Given the description of an element on the screen output the (x, y) to click on. 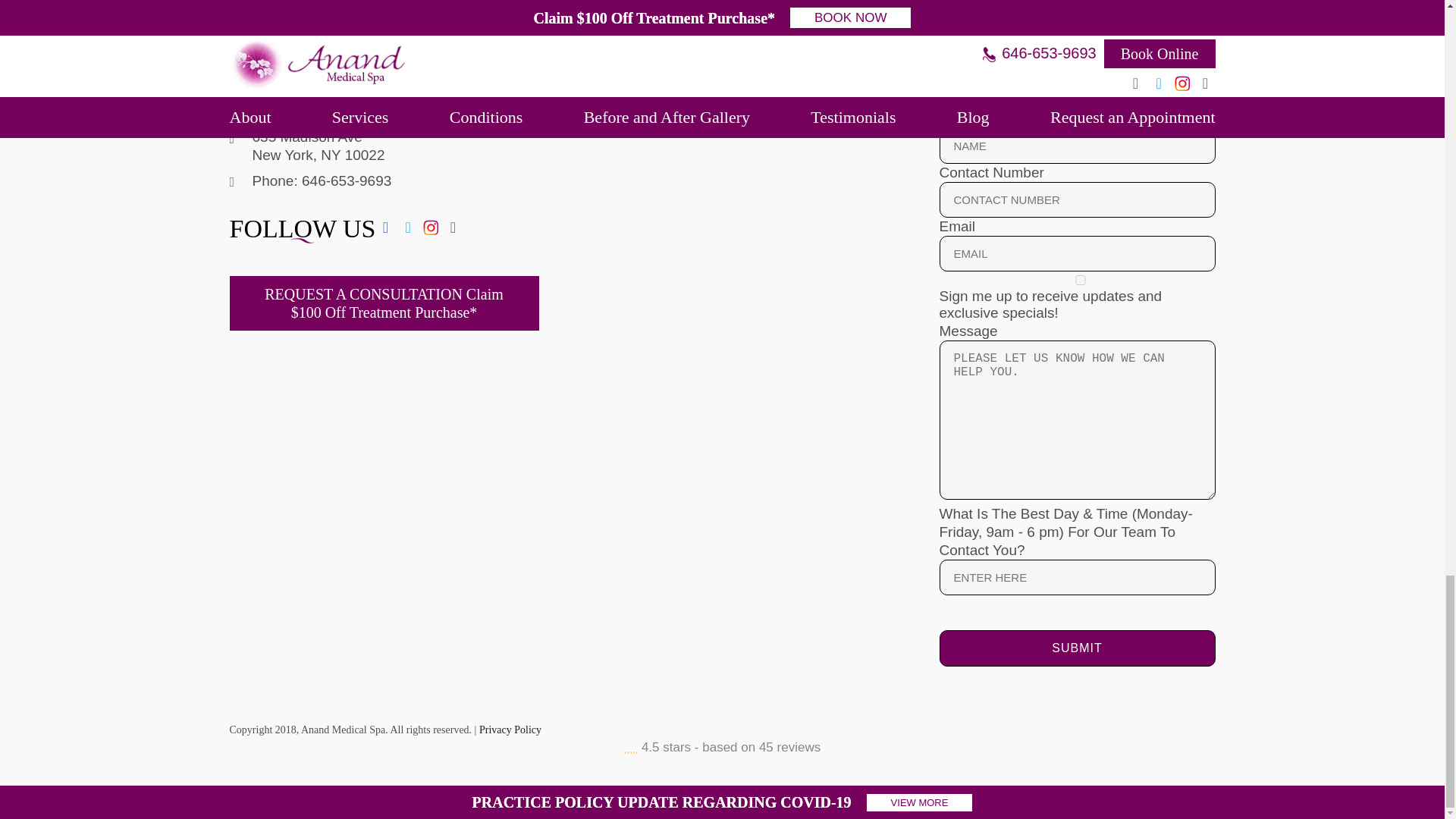
Submit (1076, 647)
Sign me up to receive updates and exclusive specials! (1079, 280)
